Given the description of an element on the screen output the (x, y) to click on. 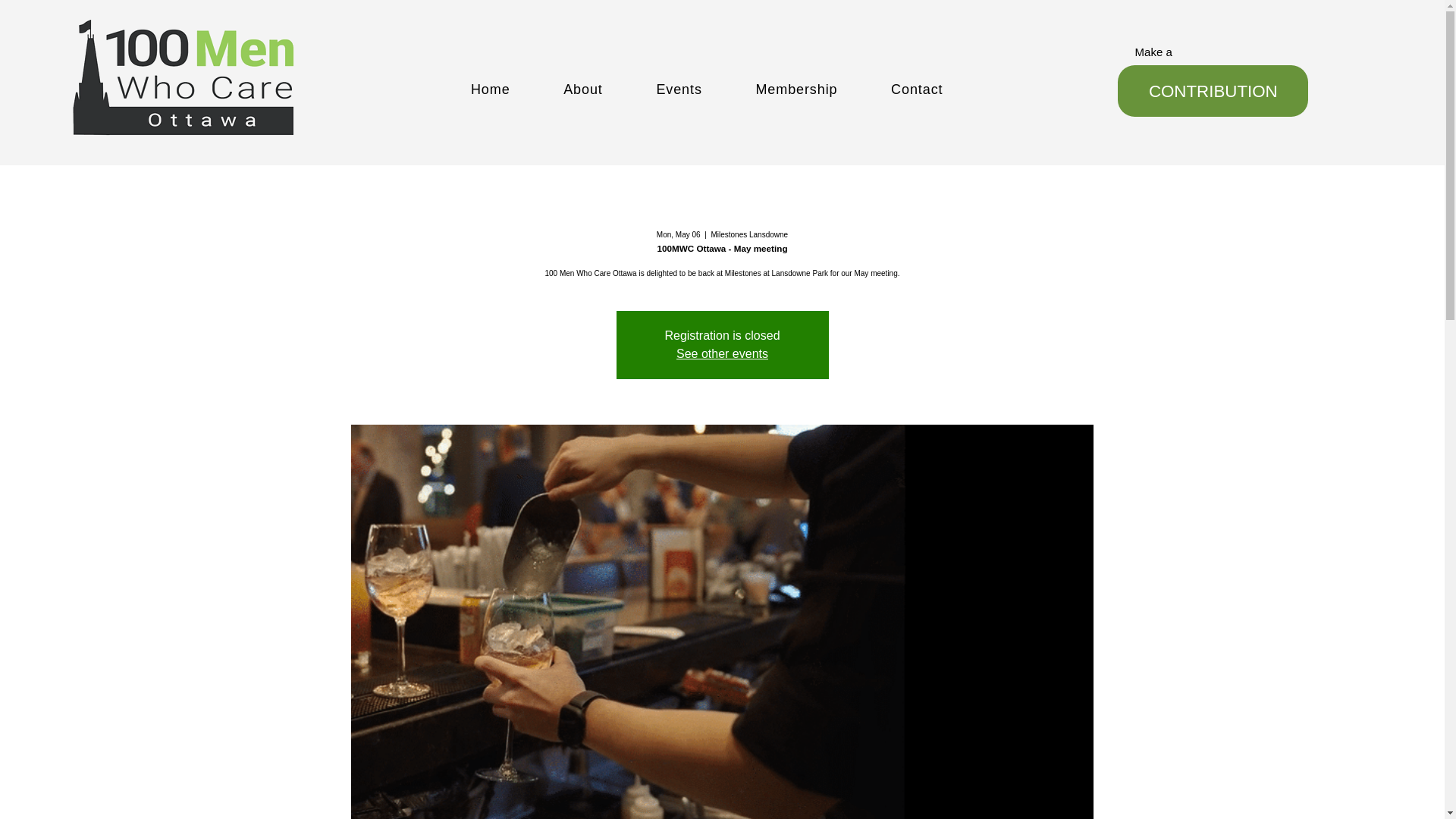
Home (516, 89)
Membership (823, 89)
About (609, 89)
Events (705, 89)
See other events (722, 353)
CONTRIBUTION (1212, 91)
Contact (943, 89)
